Given the description of an element on the screen output the (x, y) to click on. 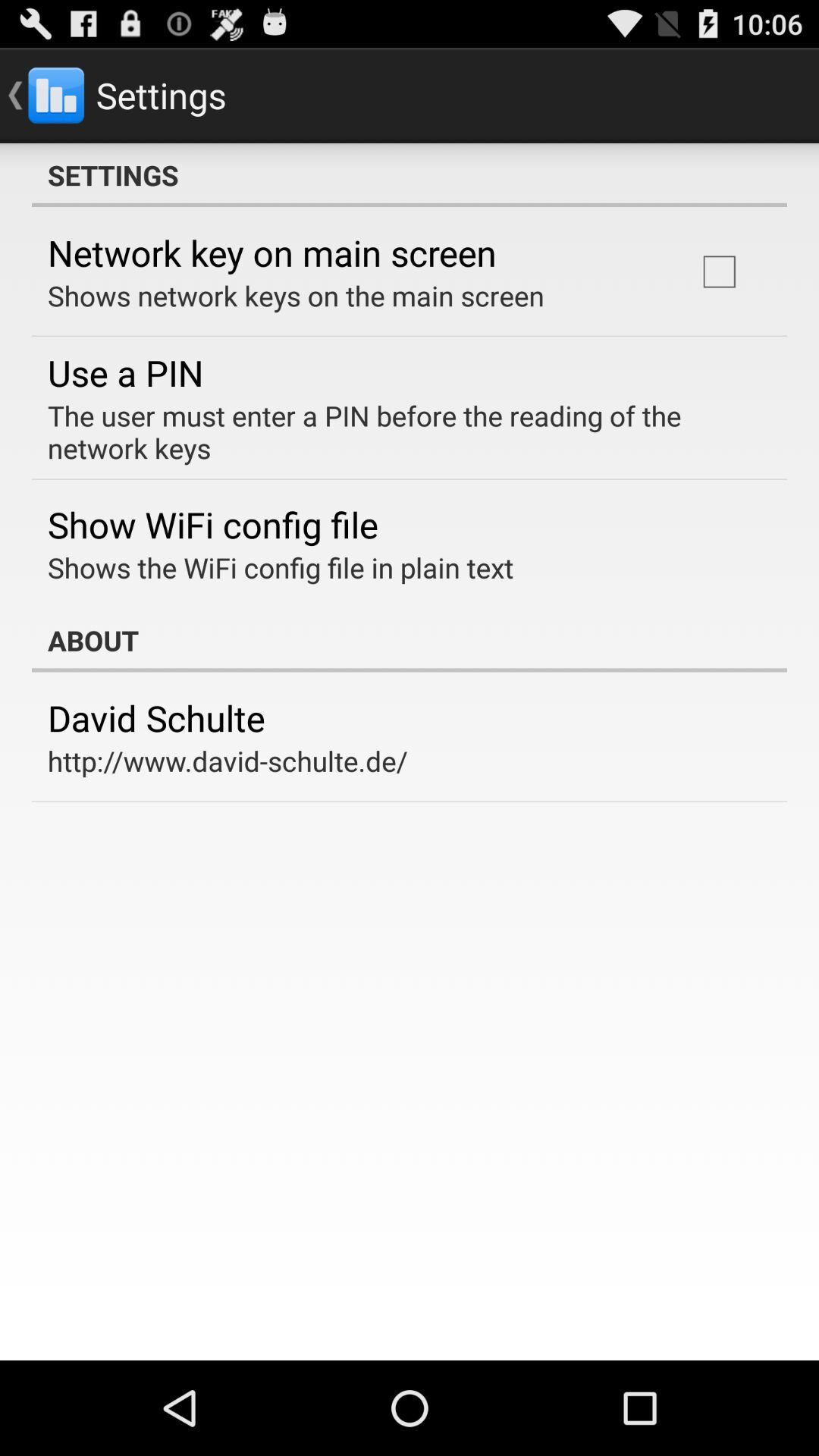
launch http www david (227, 760)
